Given the description of an element on the screen output the (x, y) to click on. 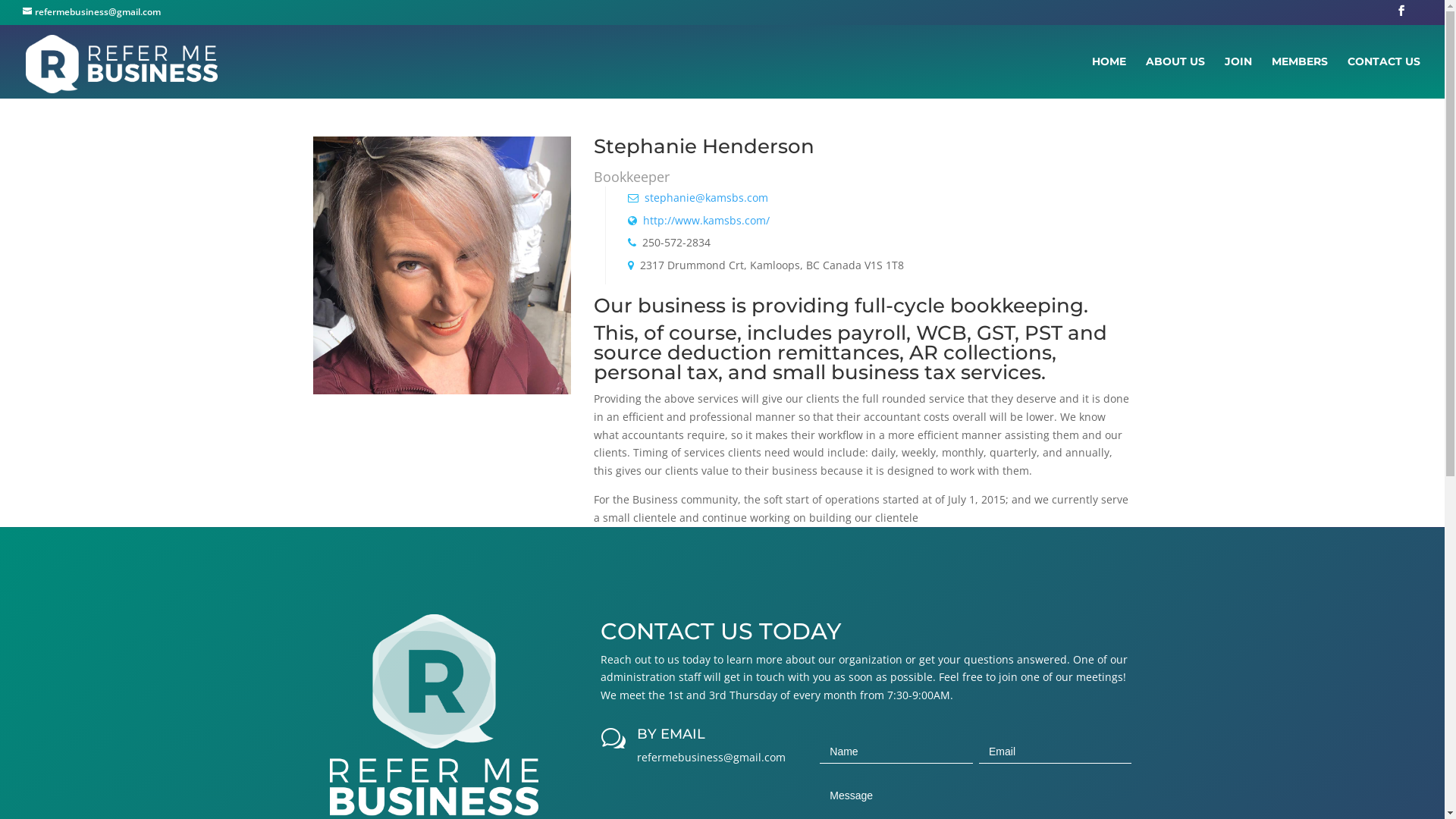
ABOUT US Element type: text (1174, 76)
MEMBERS Element type: text (1299, 76)
HOME Element type: text (1109, 76)
refermebusiness@gmail.com Element type: text (91, 11)
http://www.kamsbs.com/ Element type: text (706, 220)
JOIN Element type: text (1238, 76)
CONTACT US Element type: text (1383, 76)
stephanie@kamsbs.com Element type: text (706, 197)
